Given the description of an element on the screen output the (x, y) to click on. 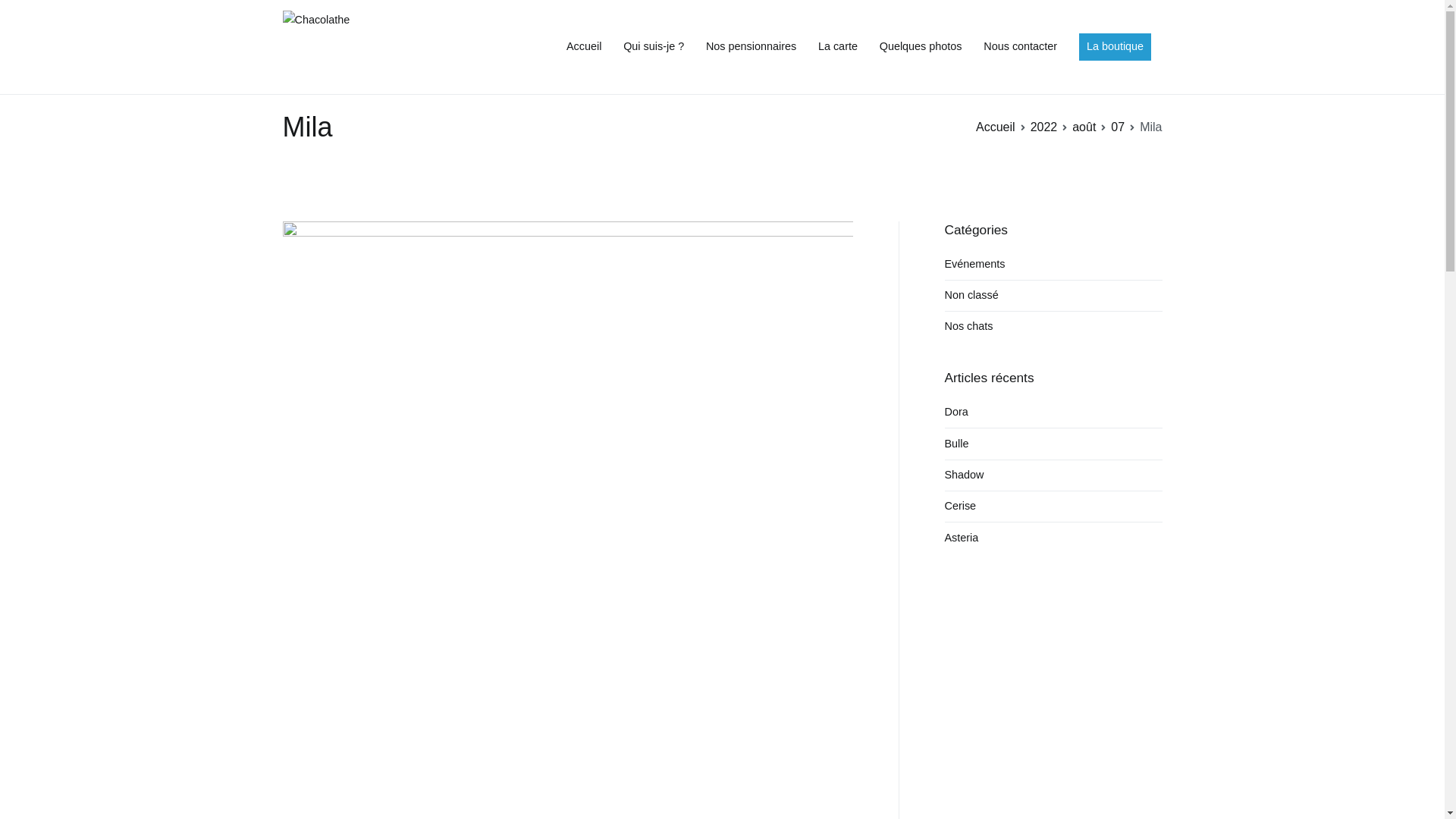
La carte Element type: text (837, 46)
Chacolathe Element type: text (454, 57)
Nos pensionnaires Element type: text (751, 46)
Qui suis-je ? Element type: text (653, 46)
Nos chats Element type: text (968, 326)
Dora Element type: text (956, 412)
Shadow Element type: text (964, 475)
Cerise Element type: text (960, 506)
Asteria Element type: text (961, 537)
Accueil Element type: text (583, 46)
Nous contacter Element type: text (1020, 46)
07 Element type: text (1117, 126)
Accueil Element type: text (995, 126)
La boutique Element type: text (1115, 46)
Bulle Element type: text (956, 443)
Quelques photos Element type: text (920, 46)
2022 Element type: text (1043, 126)
